Given the description of an element on the screen output the (x, y) to click on. 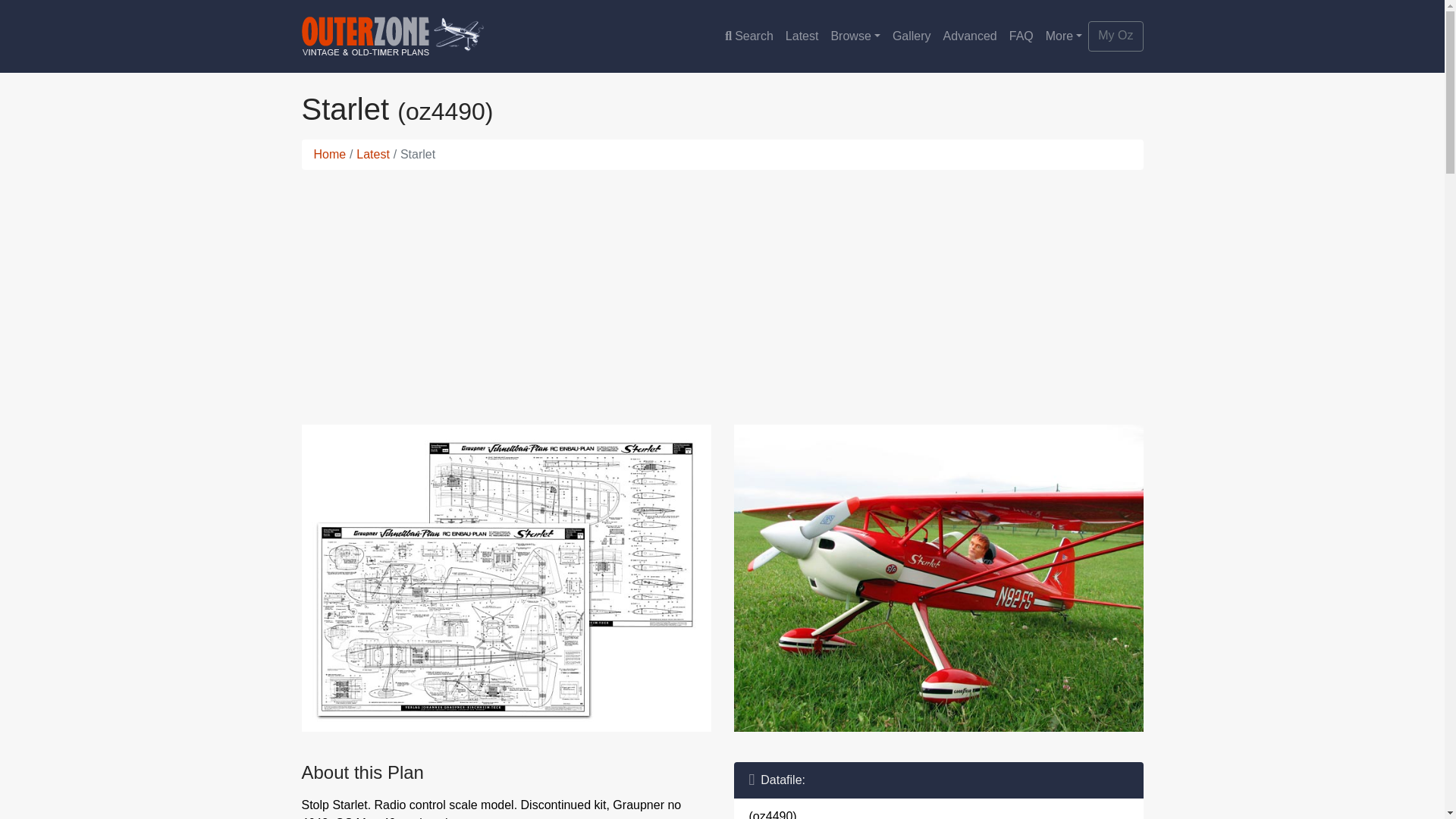
Home (330, 154)
Latest (373, 154)
FAQ (1021, 36)
Advanced (970, 36)
More (1064, 36)
Latest (801, 36)
Search (748, 36)
Browse (854, 36)
My Oz (1114, 36)
